Given the description of an element on the screen output the (x, y) to click on. 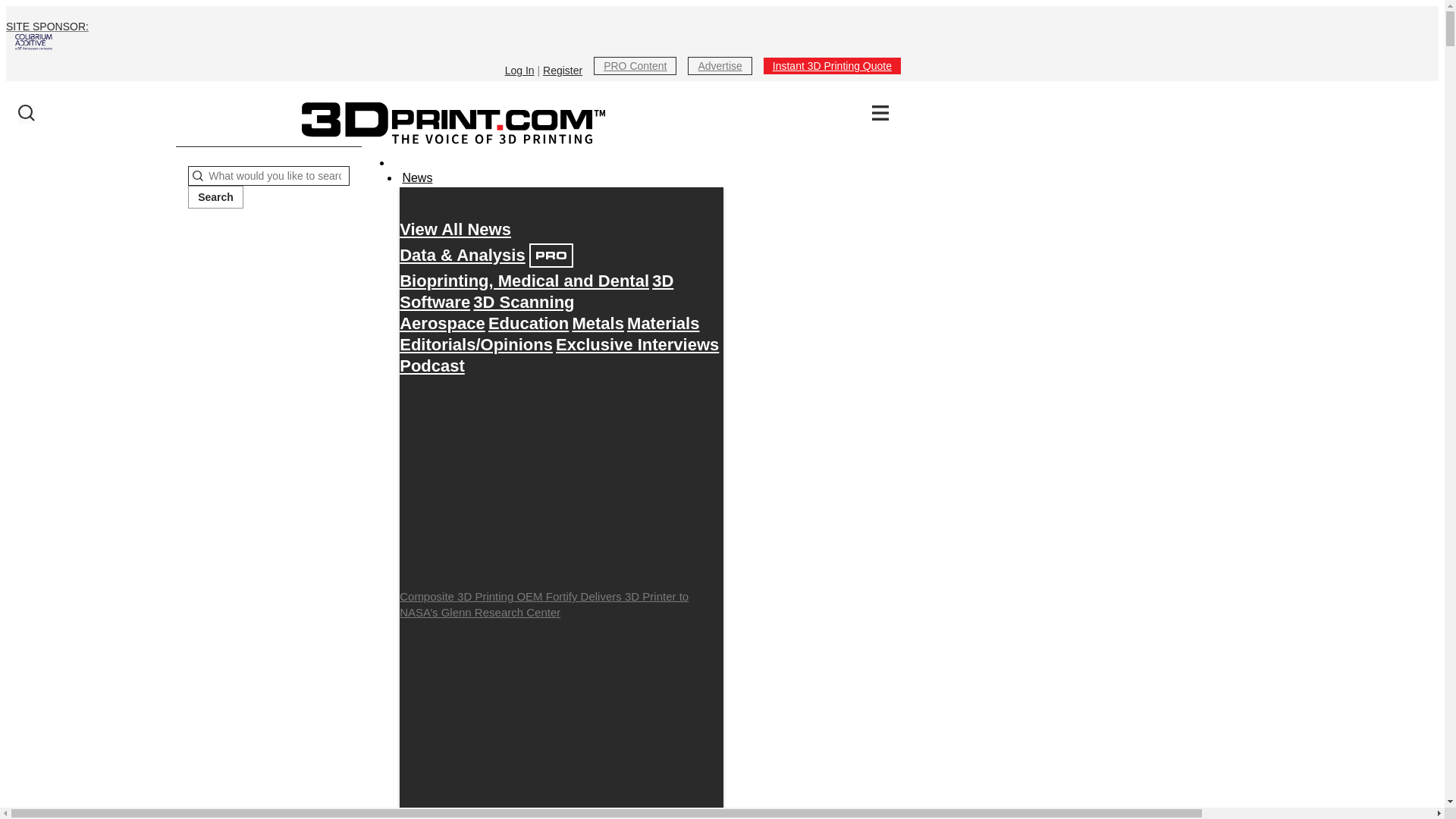
Education (528, 323)
News (415, 178)
PRO Content (635, 65)
Metals (597, 323)
Exclusive Interviews (637, 344)
View All News (454, 229)
Log In (519, 70)
SITE SPONSOR: (453, 35)
Aerospace (441, 323)
Register (562, 70)
